Given the description of an element on the screen output the (x, y) to click on. 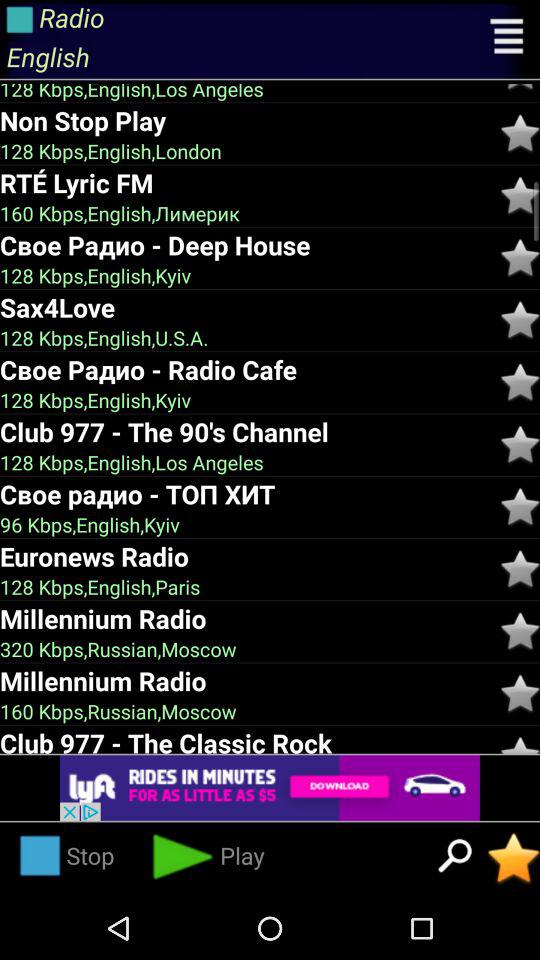
for rating (520, 382)
